Given the description of an element on the screen output the (x, y) to click on. 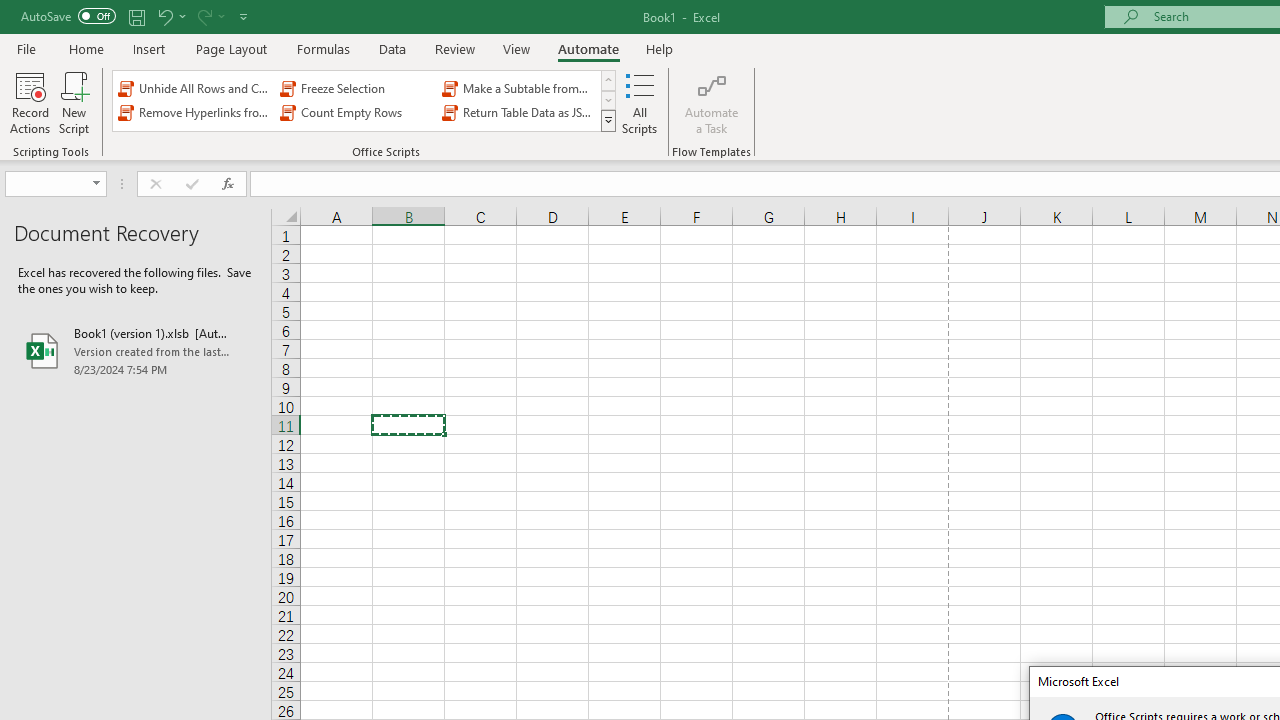
Count Empty Rows (356, 112)
All Scripts (639, 102)
Office Scripts (608, 120)
Record Actions (29, 102)
